Given the description of an element on the screen output the (x, y) to click on. 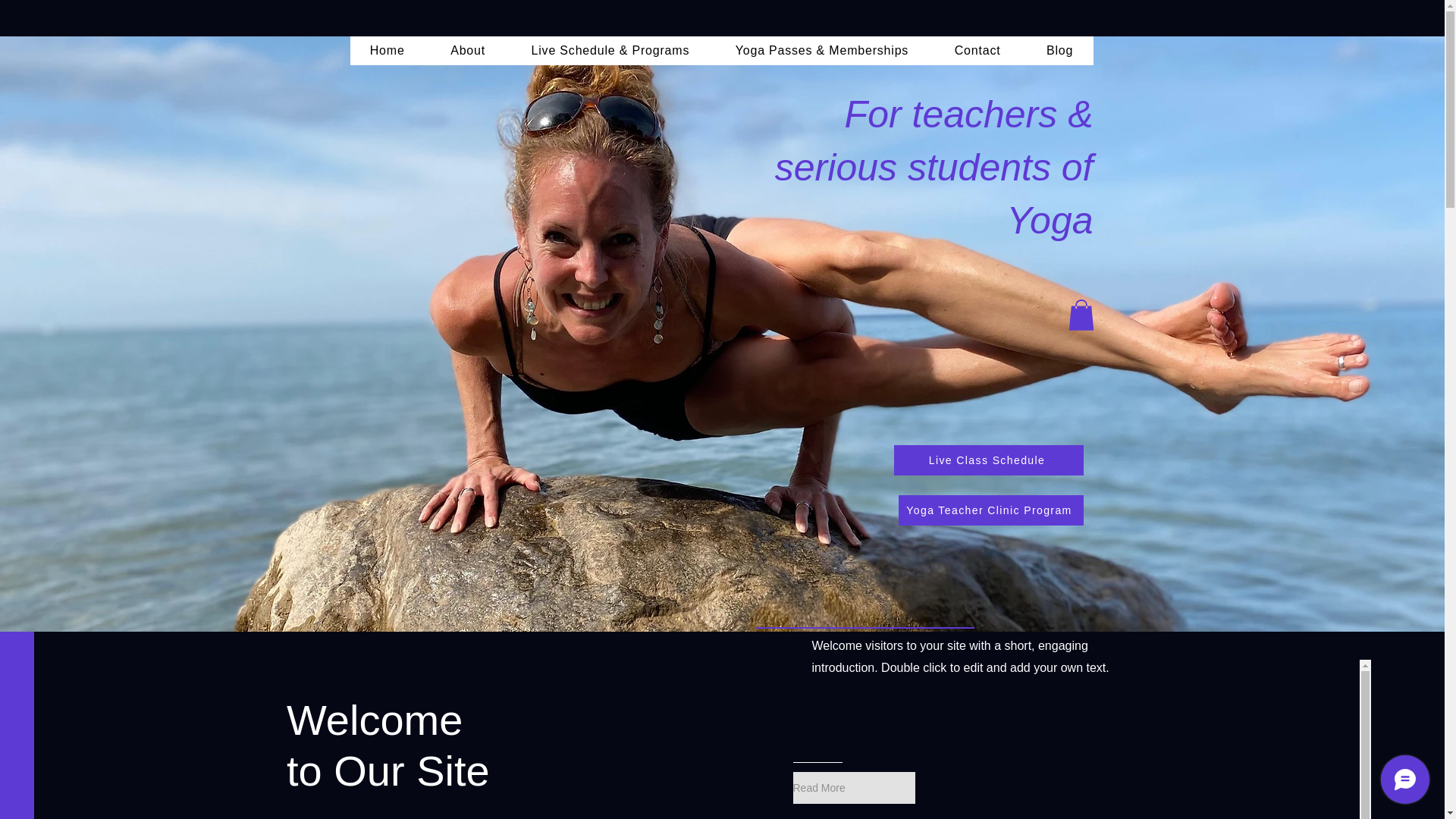
About (105, 61)
Contact (977, 50)
Read More (854, 787)
Log In (1251, 62)
Unlimited Summer Pass (100, 260)
Live Class Schedule (988, 460)
About (467, 50)
Home (51, 61)
Home (387, 50)
Blog (1059, 50)
